Given the description of an element on the screen output the (x, y) to click on. 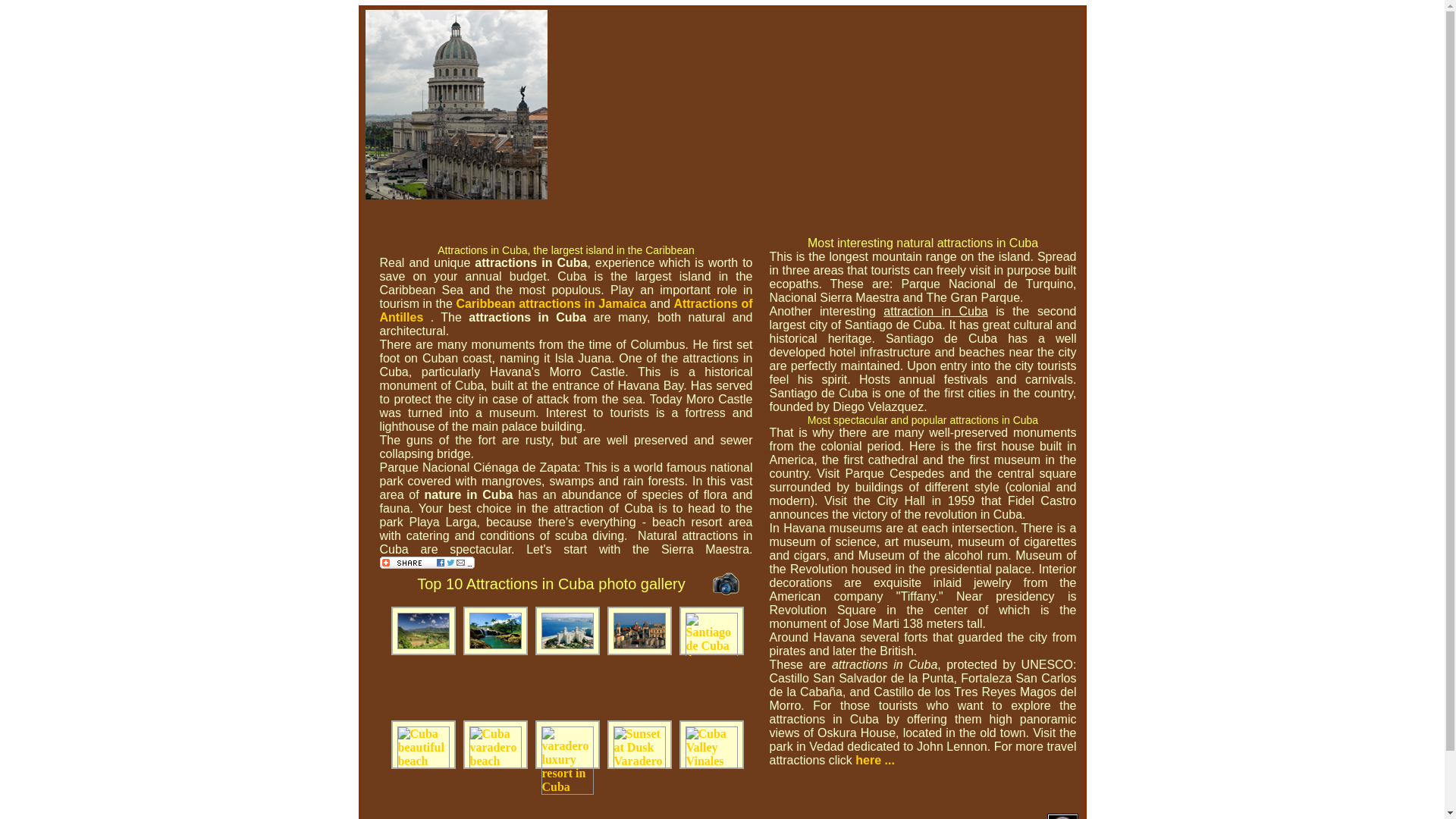
Attractions of Antilles (565, 310)
Caribbean attractions in Jamaica (550, 303)
here ... (875, 759)
